Given the description of an element on the screen output the (x, y) to click on. 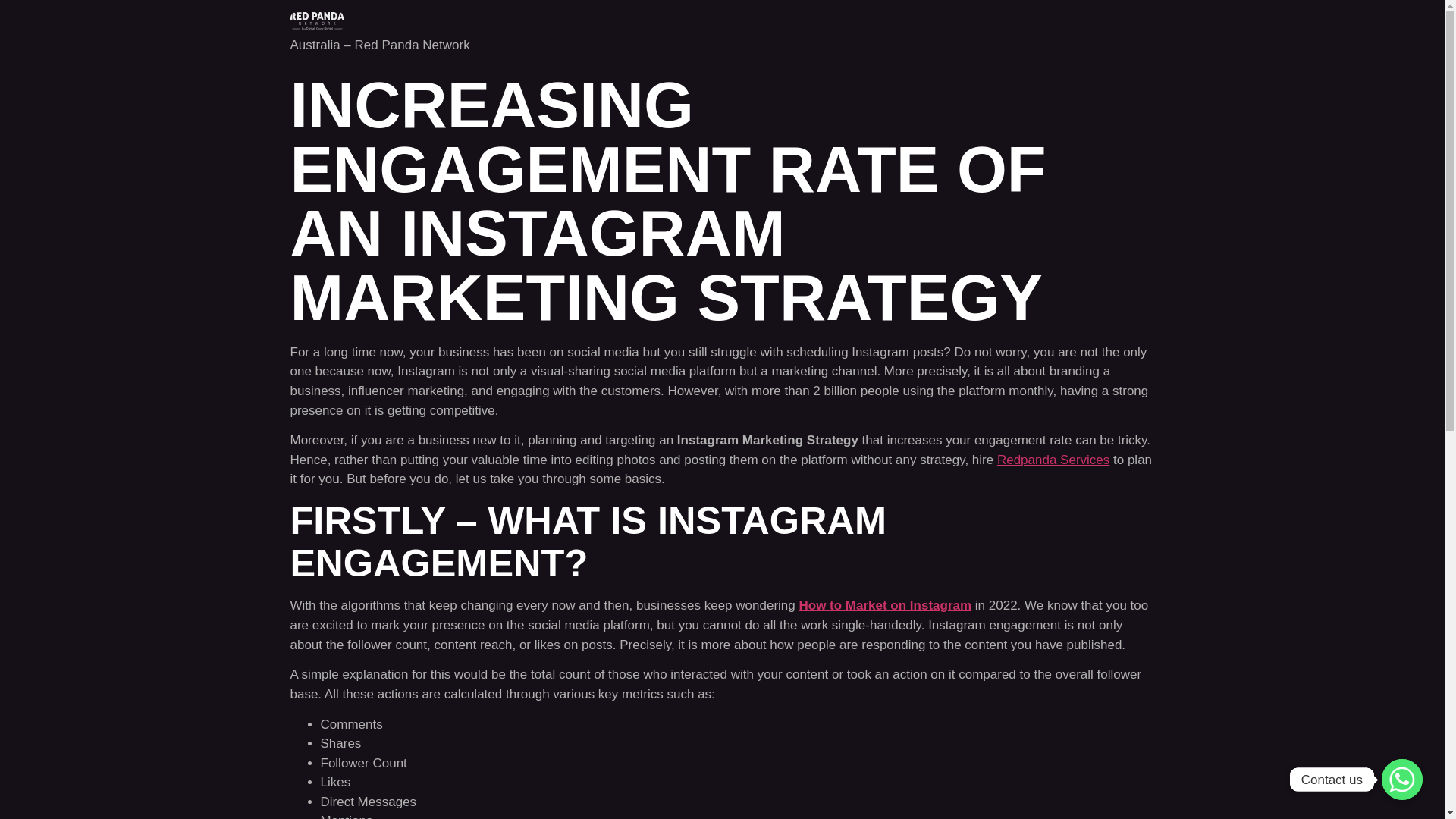
Contact us (1401, 779)
Redpanda Services (1053, 459)
How to Market on Instagram (884, 605)
